Given the description of an element on the screen output the (x, y) to click on. 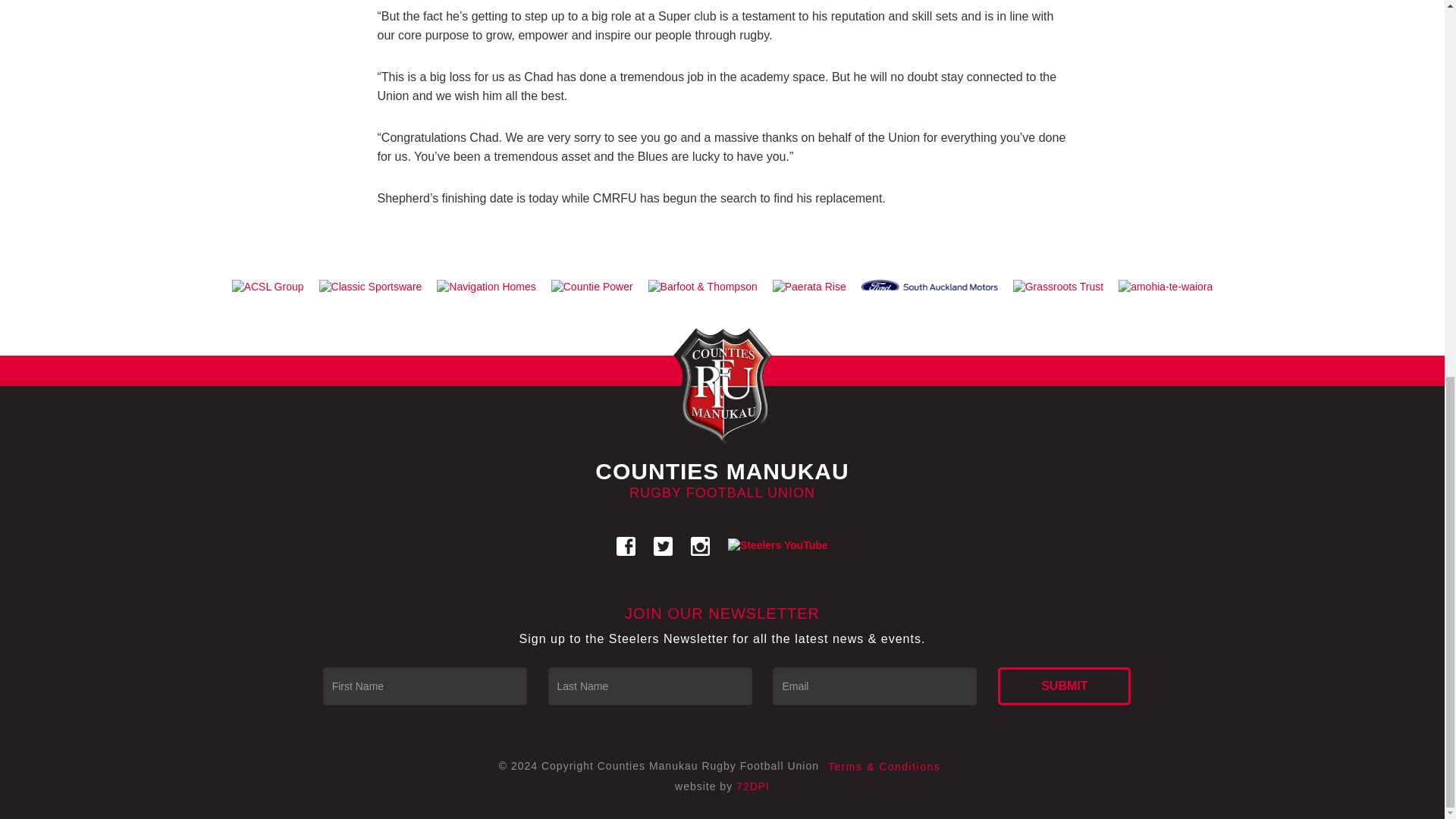
Classic Sportsware (370, 287)
Grassroots Trust (1058, 287)
ACSL Group (267, 287)
South Auckland Motors (929, 286)
Paerata Rise (809, 287)
amohia-te-waiora (1165, 287)
Counties Power (591, 287)
Navigational Homes (486, 287)
